Given the description of an element on the screen output the (x, y) to click on. 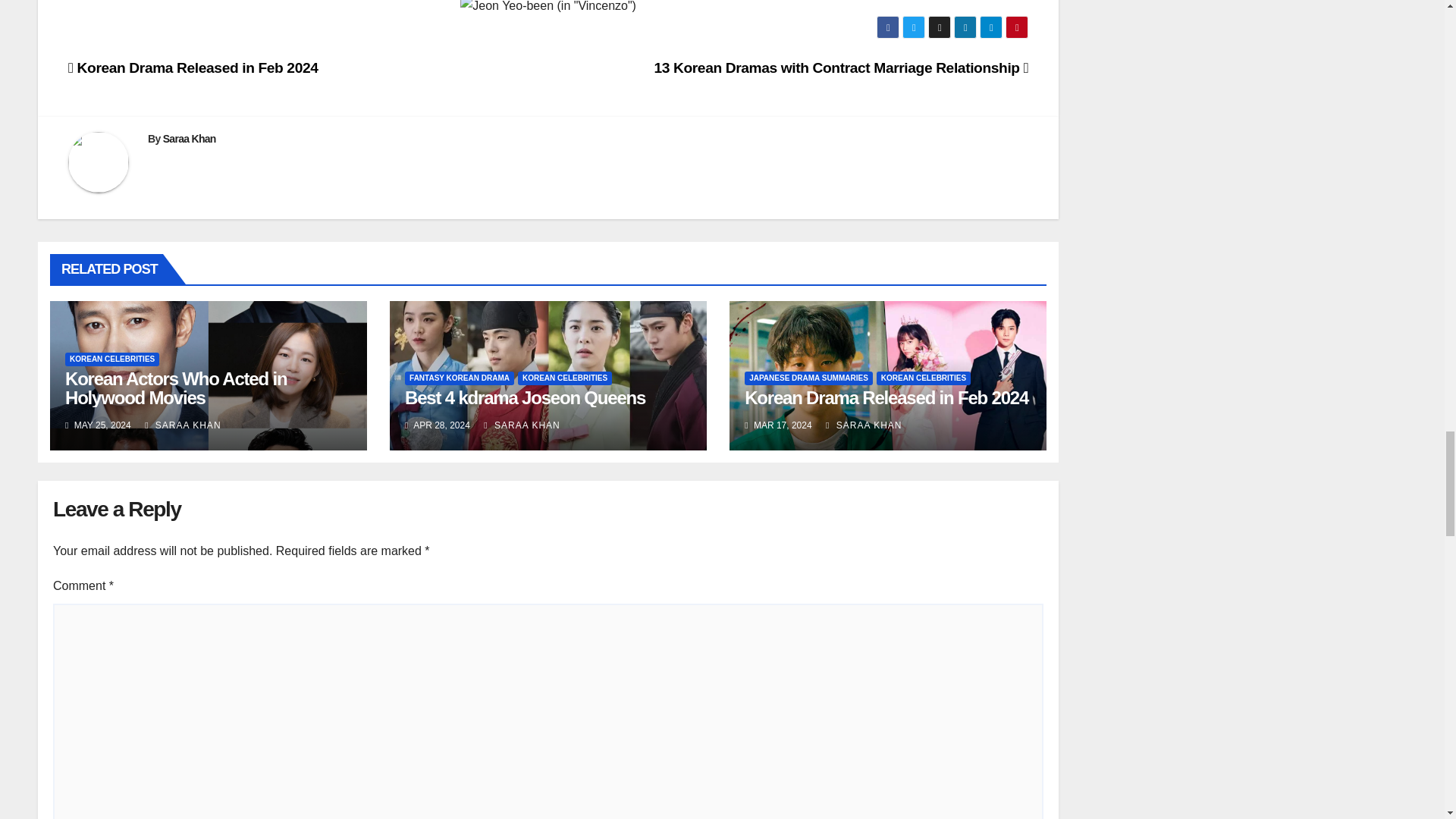
13 Korean Dramas with Contract Marriage Relationship (840, 67)
Best 4 kdrama Joseon Queens (524, 397)
Permalink to: Korean Actors Who Acted in Holywood Movies (175, 387)
Korean Drama Released in Feb 2024 (193, 67)
SARAA KHAN (521, 425)
Saraa Khan (189, 138)
KOREAN CELEBRITIES (923, 377)
SARAA KHAN (182, 425)
KOREAN CELEBRITIES (111, 359)
Permalink to: Korean Drama Released in Feb 2024 (885, 397)
KOREAN CELEBRITIES (564, 377)
Permalink to: Best 4 kdrama Joseon Queens (524, 397)
JAPANESE DRAMA SUMMARIES (808, 377)
FANTASY KOREAN DRAMA (458, 377)
Korean Actors Who Acted in Holywood Movies (175, 387)
